Given the description of an element on the screen output the (x, y) to click on. 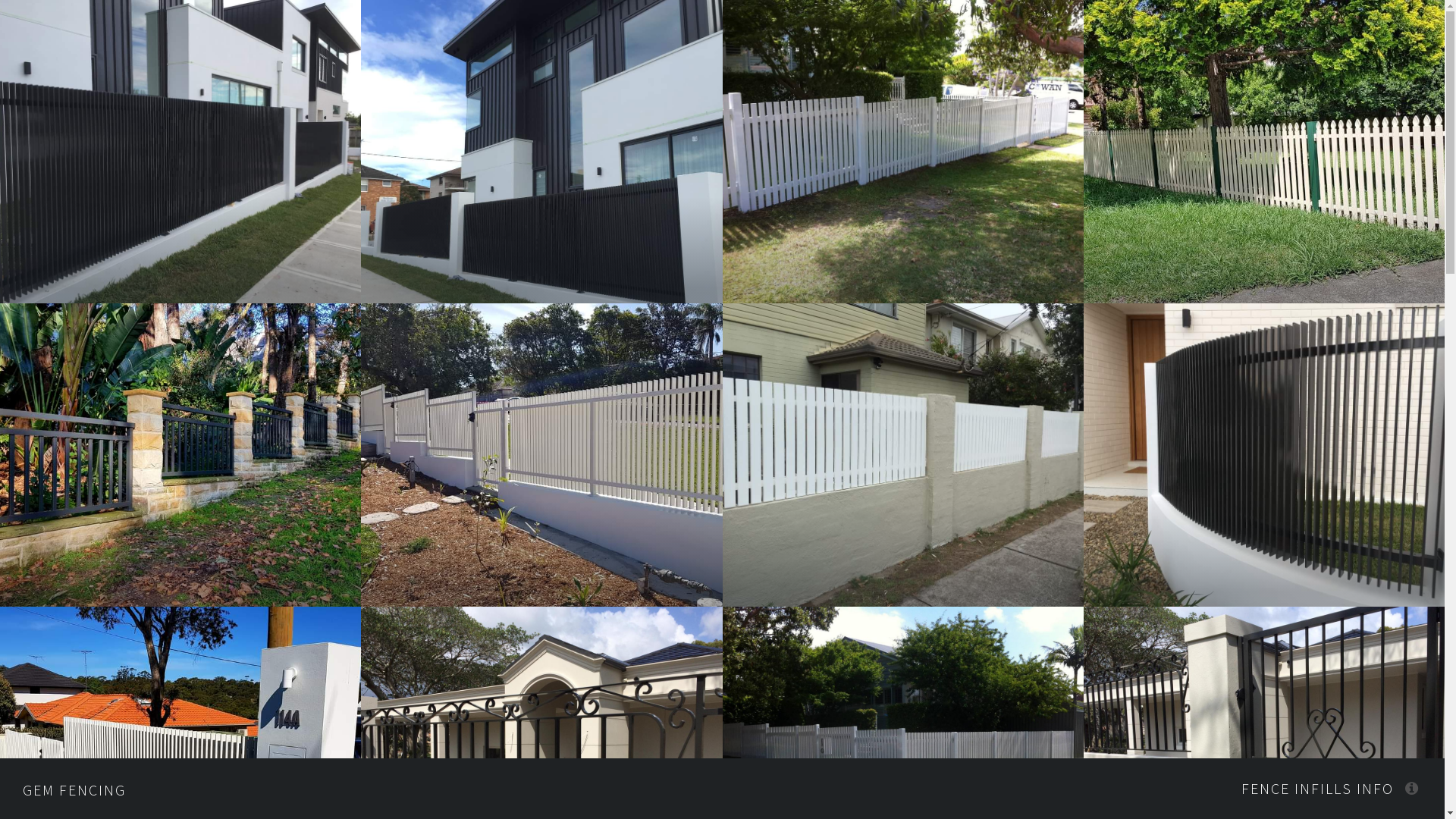
GEM FENCING Element type: text (73, 789)
